Given the description of an element on the screen output the (x, y) to click on. 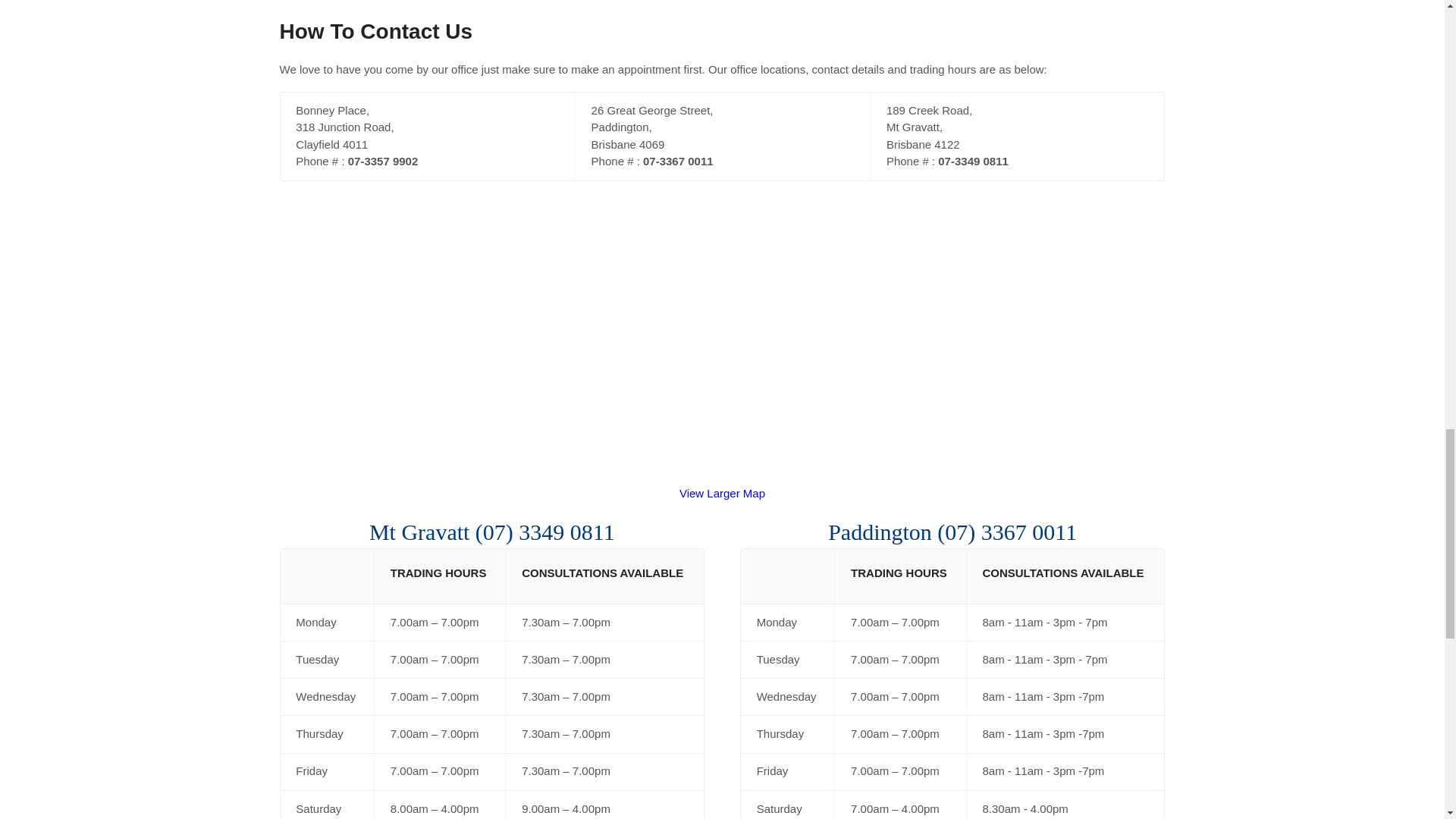
How To Contact Us (376, 31)
